Given the description of an element on the screen output the (x, y) to click on. 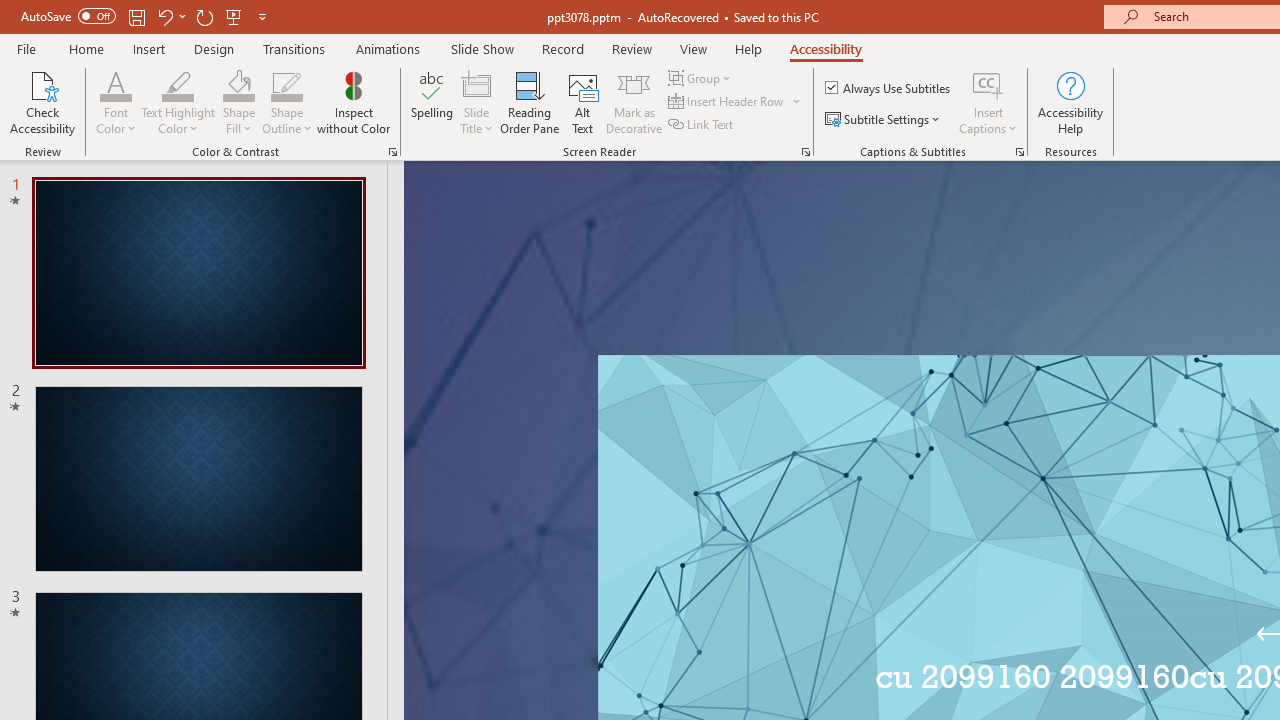
Subtitle Settings (884, 119)
Insert Captions (988, 84)
Shape Outline (286, 84)
